Given the description of an element on the screen output the (x, y) to click on. 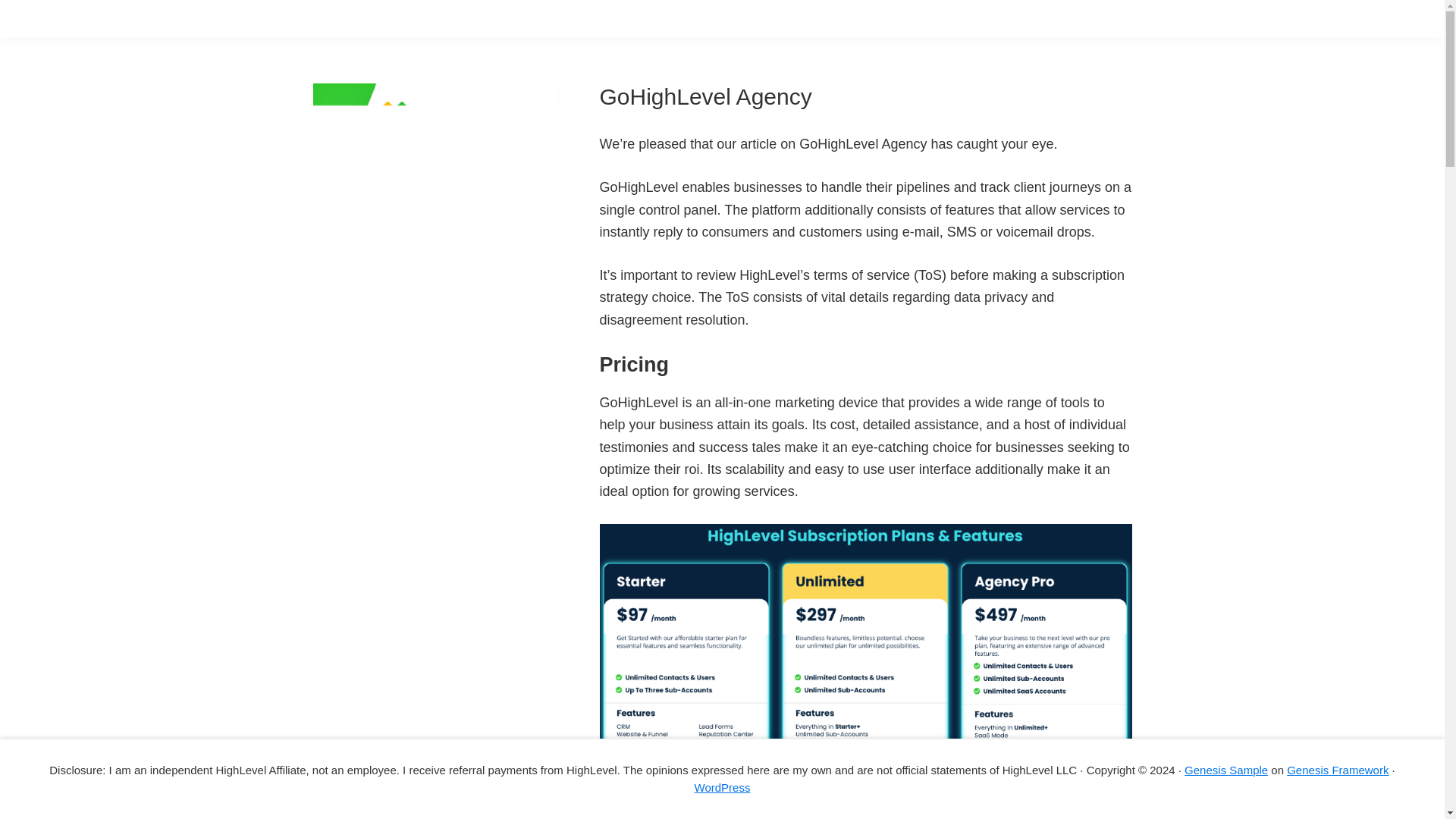
Genesis Sample (1226, 769)
Genesis Framework (1338, 769)
WordPress (722, 787)
